Given the description of an element on the screen output the (x, y) to click on. 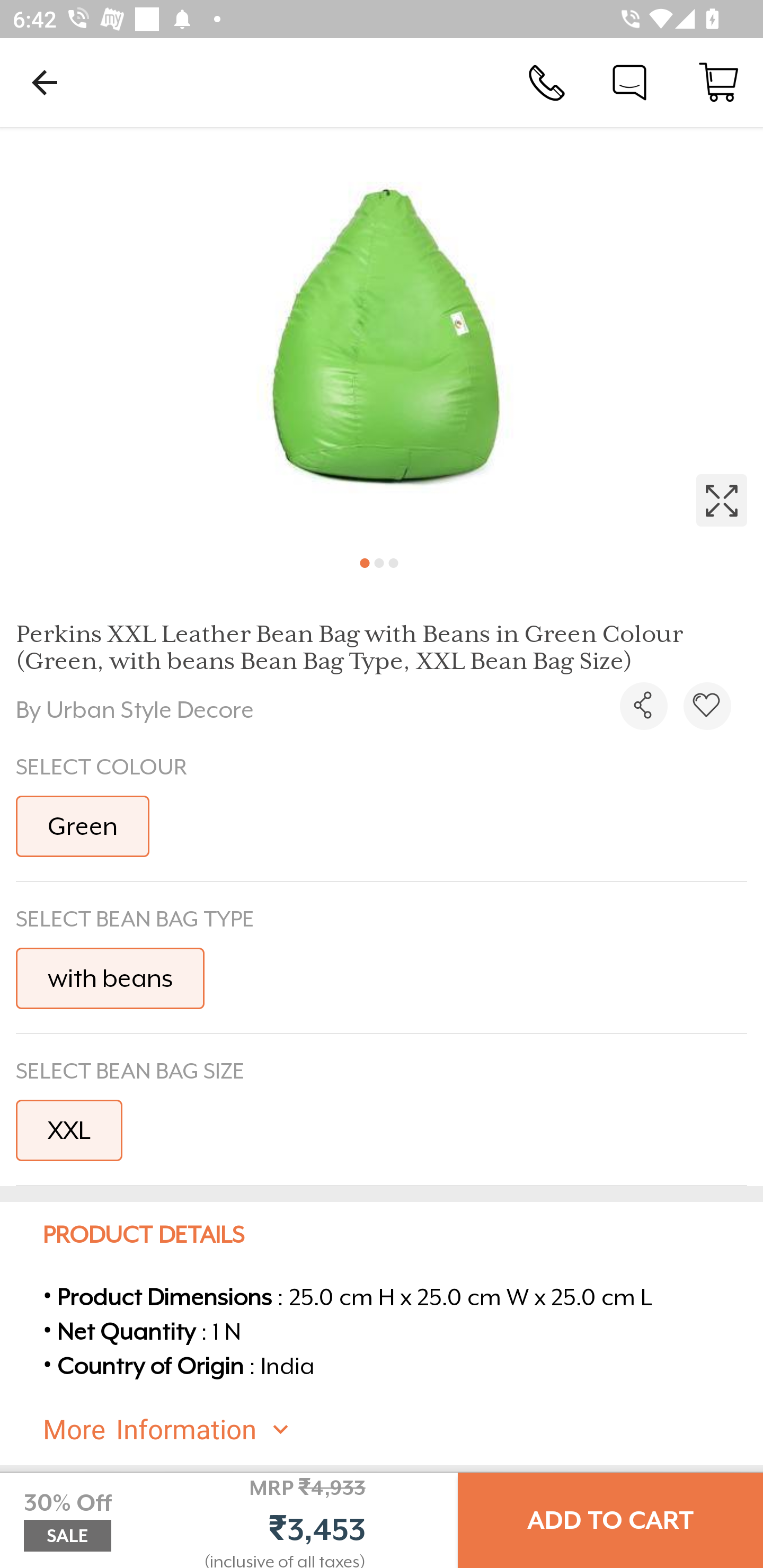
Navigate up (44, 82)
Call Us (546, 81)
Chat (629, 81)
Cart (718, 81)
 (381, 334)
 (643, 706)
 (706, 706)
Green (82, 825)
with beans (110, 978)
XXL (69, 1130)
More Information  (396, 1429)
ADD TO CART (610, 1520)
